Given the description of an element on the screen output the (x, y) to click on. 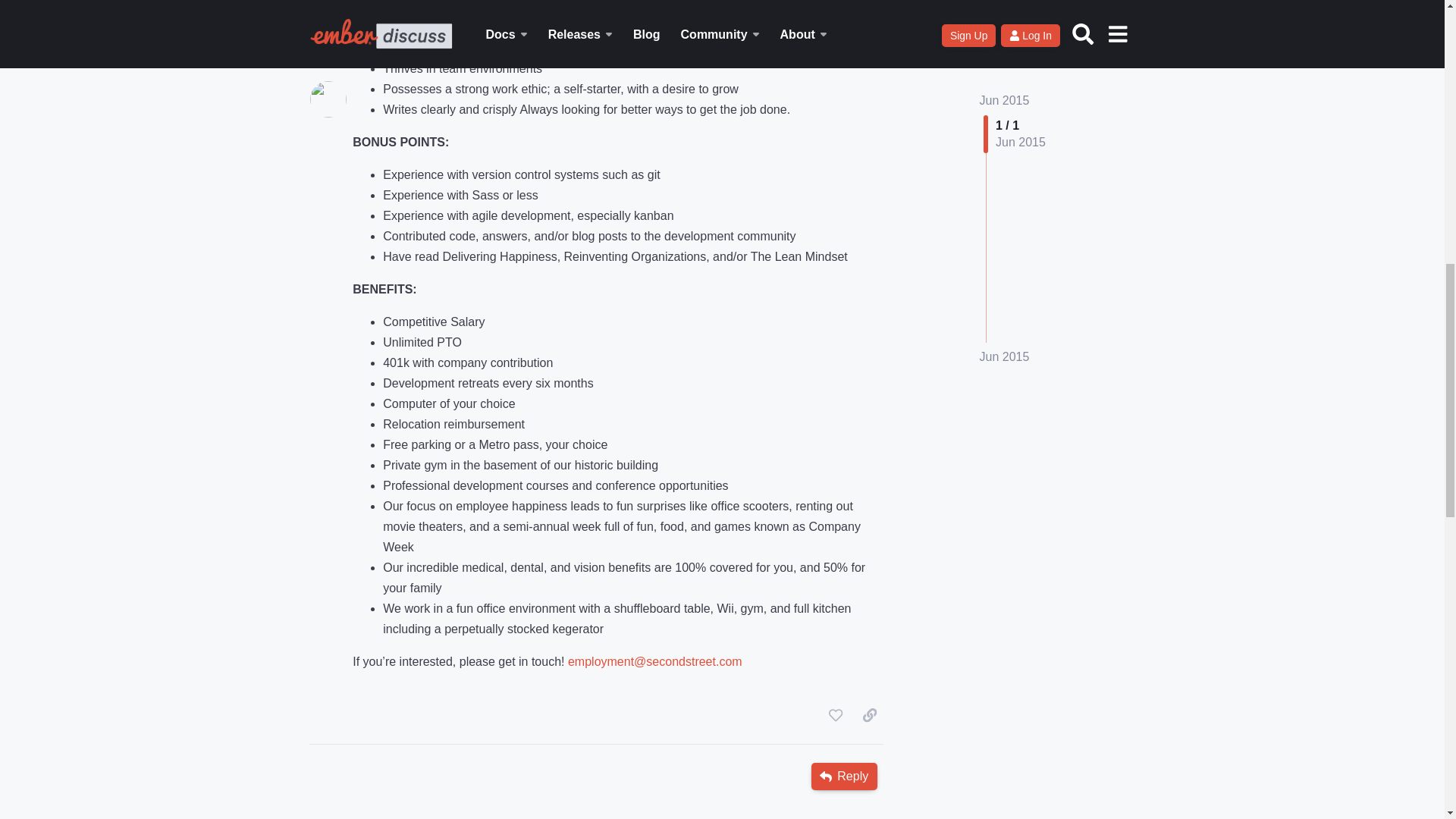
Reply (843, 776)
copy a link to this post to clipboard (869, 714)
like this post (835, 714)
